Given the description of an element on the screen output the (x, y) to click on. 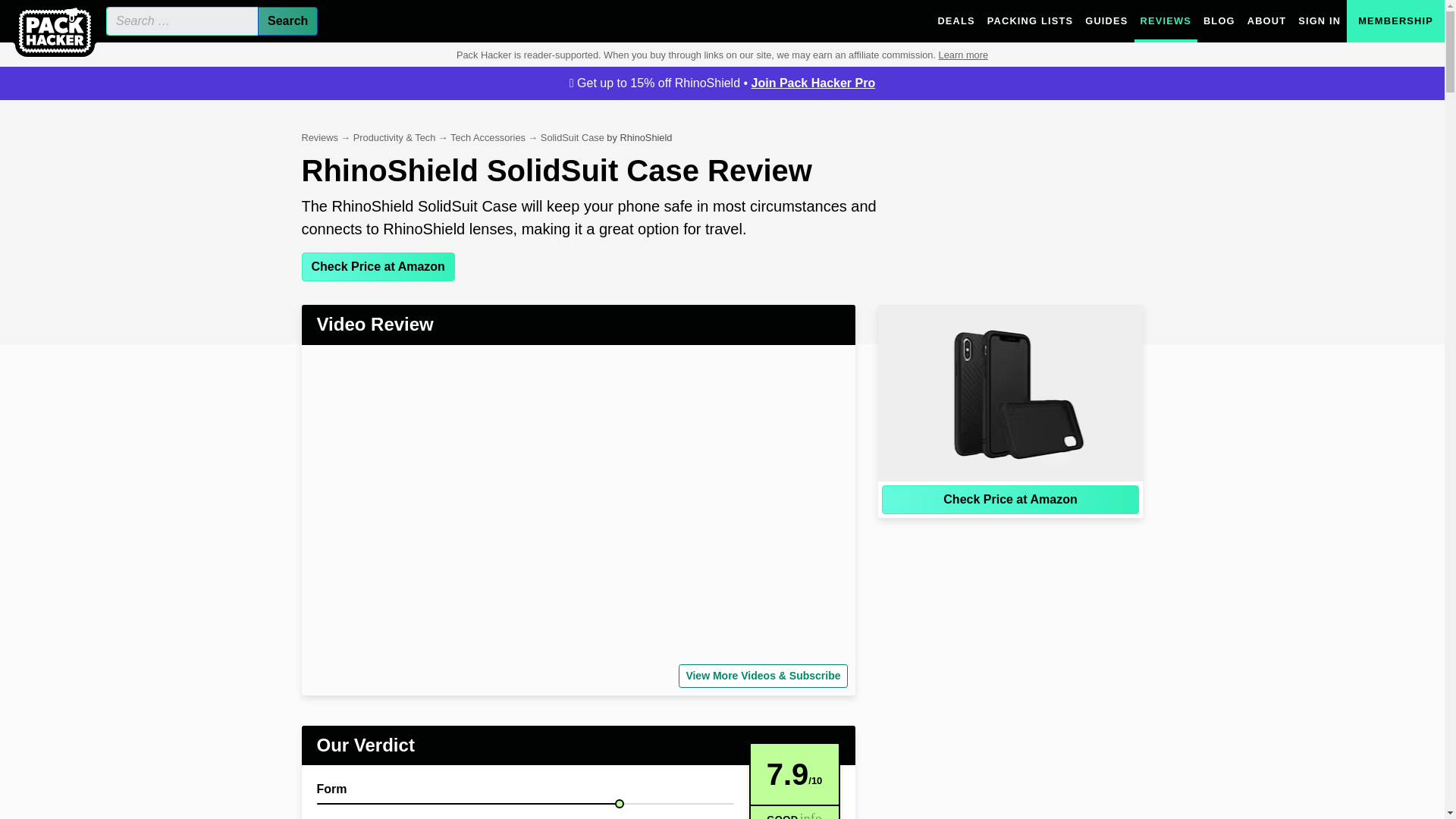
Join Pack Hacker Pro (813, 82)
BLOG (1218, 21)
Check Price at Amazon (377, 266)
RhinoShield (645, 137)
info (809, 812)
Search (287, 21)
Tech Accessories (487, 137)
Learn more (963, 54)
Check Price at Amazon (1009, 499)
DEALS (955, 21)
ABOUT (1266, 21)
GUIDES (1106, 21)
Search (287, 21)
SIGN IN (1319, 21)
Search (287, 21)
